Given the description of an element on the screen output the (x, y) to click on. 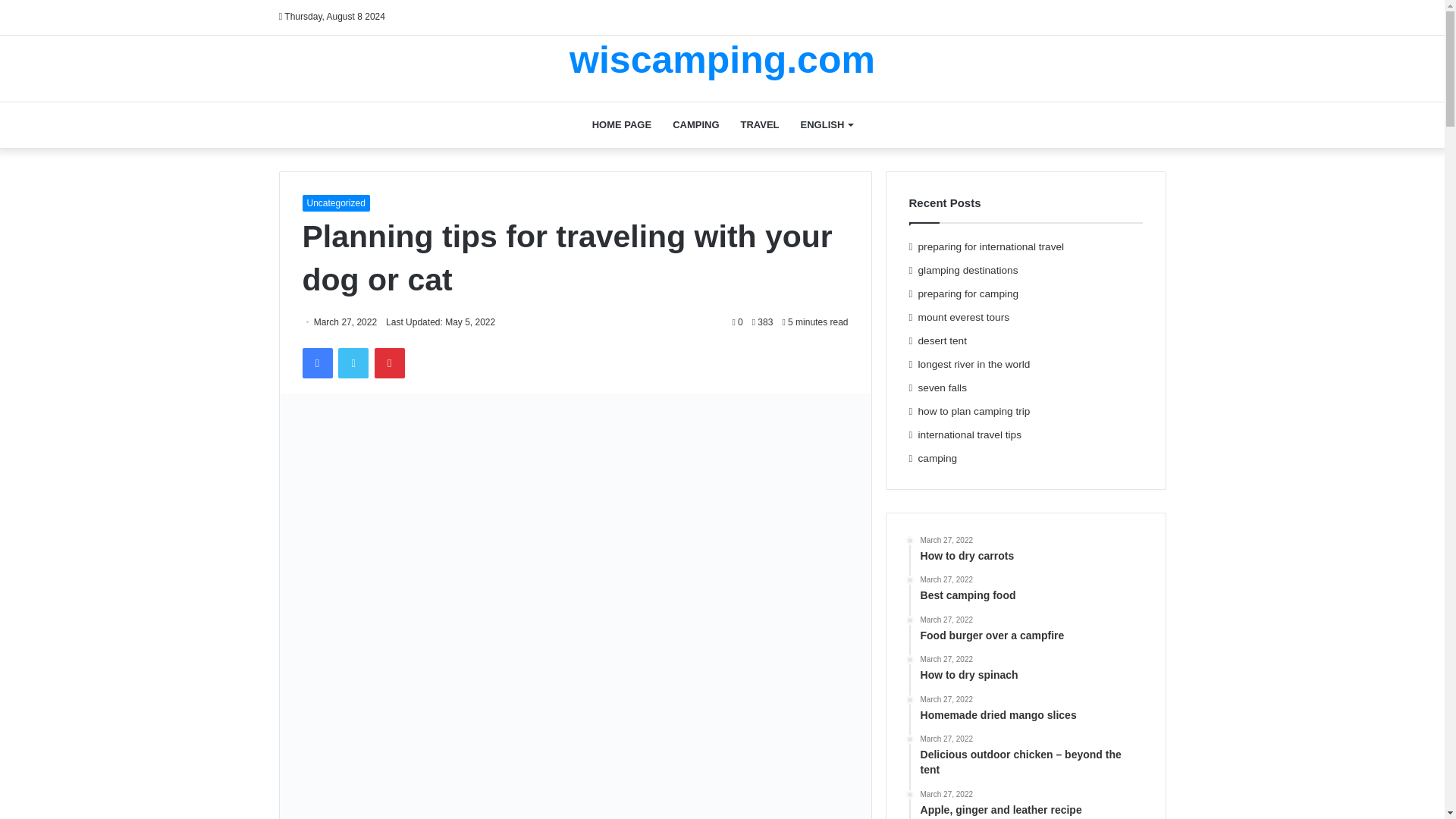
ENGLISH (826, 124)
Facebook (316, 363)
TRAVEL (760, 124)
CAMPING (695, 124)
Twitter (352, 363)
English (826, 124)
Twitter (352, 363)
Facebook (316, 363)
Uncategorized (335, 202)
Pinterest (389, 363)
